Given the description of an element on the screen output the (x, y) to click on. 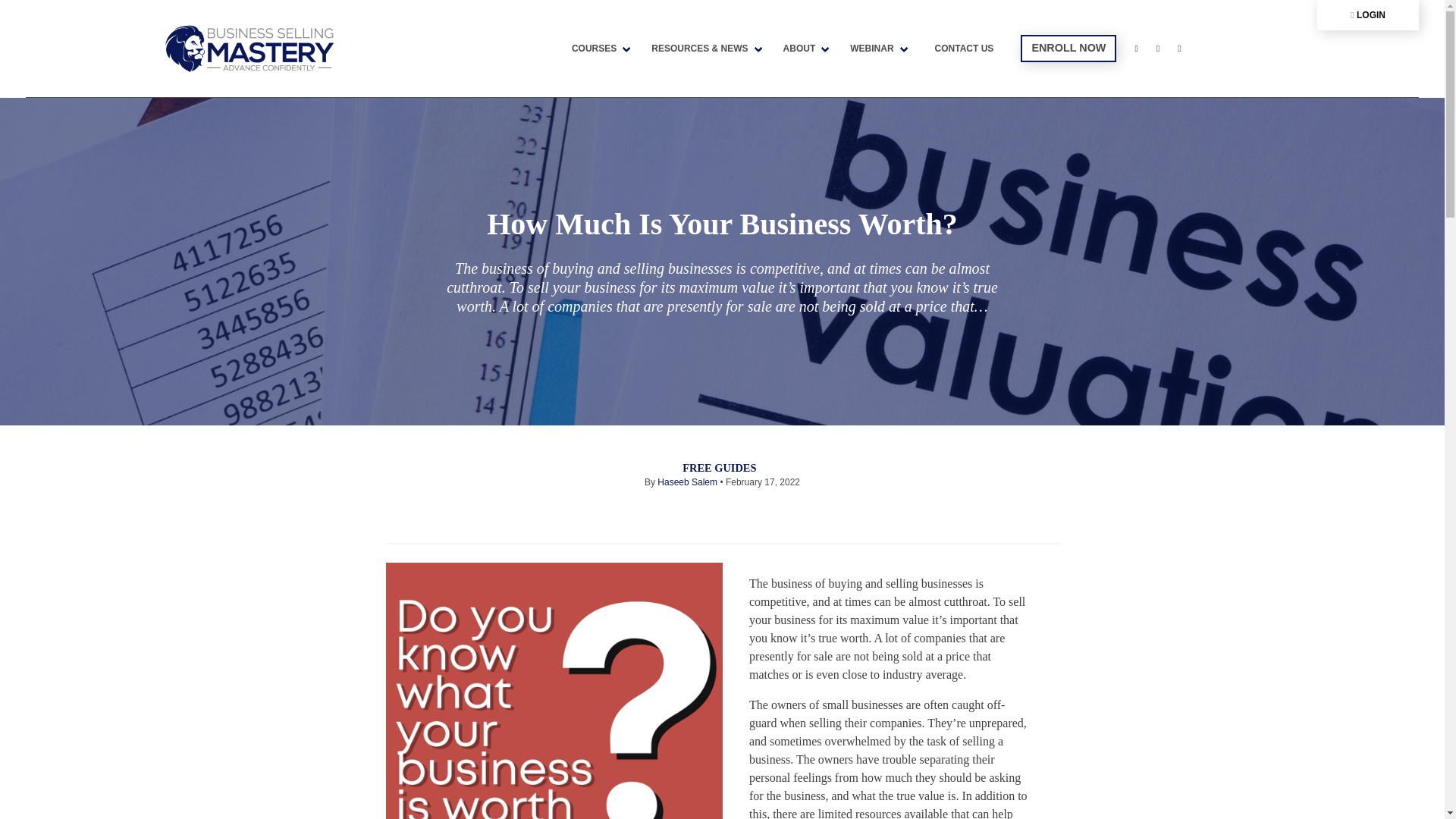
Haseeb Salem (687, 481)
FREE GUIDES (718, 467)
CONTACT US (964, 48)
ENROLL NOW (1068, 48)
LOGIN (1367, 15)
